Given the description of an element on the screen output the (x, y) to click on. 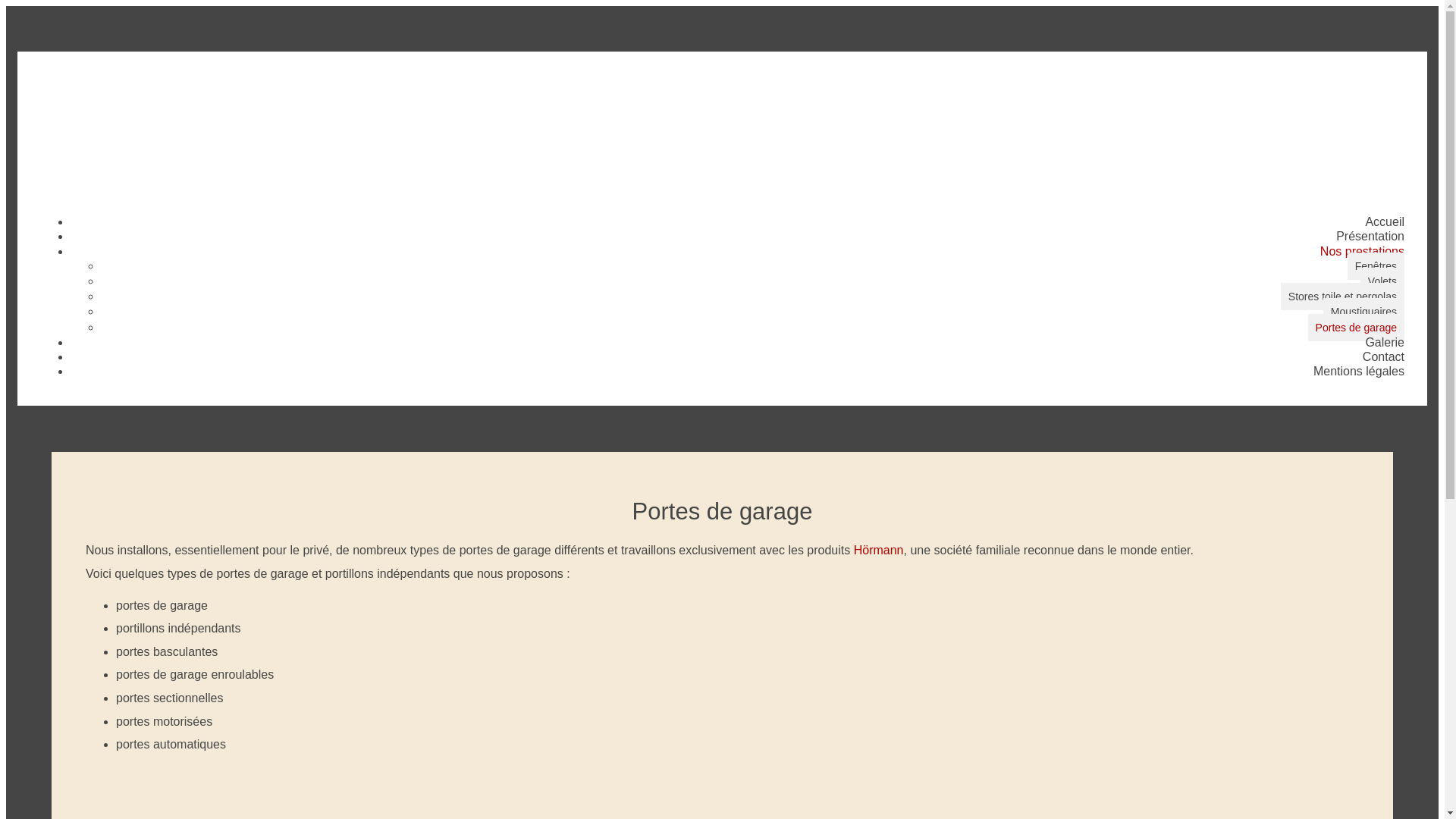
Accueil Element type: text (1384, 221)
Volets Element type: text (1382, 280)
Galerie Element type: text (1384, 342)
Moustiquaires Element type: text (1363, 311)
Nos prestations Element type: text (1362, 251)
Stores toile et pergolas Element type: text (1342, 296)
Contact Element type: text (1383, 356)
Portes de garage Element type: text (1356, 327)
